Given the description of an element on the screen output the (x, y) to click on. 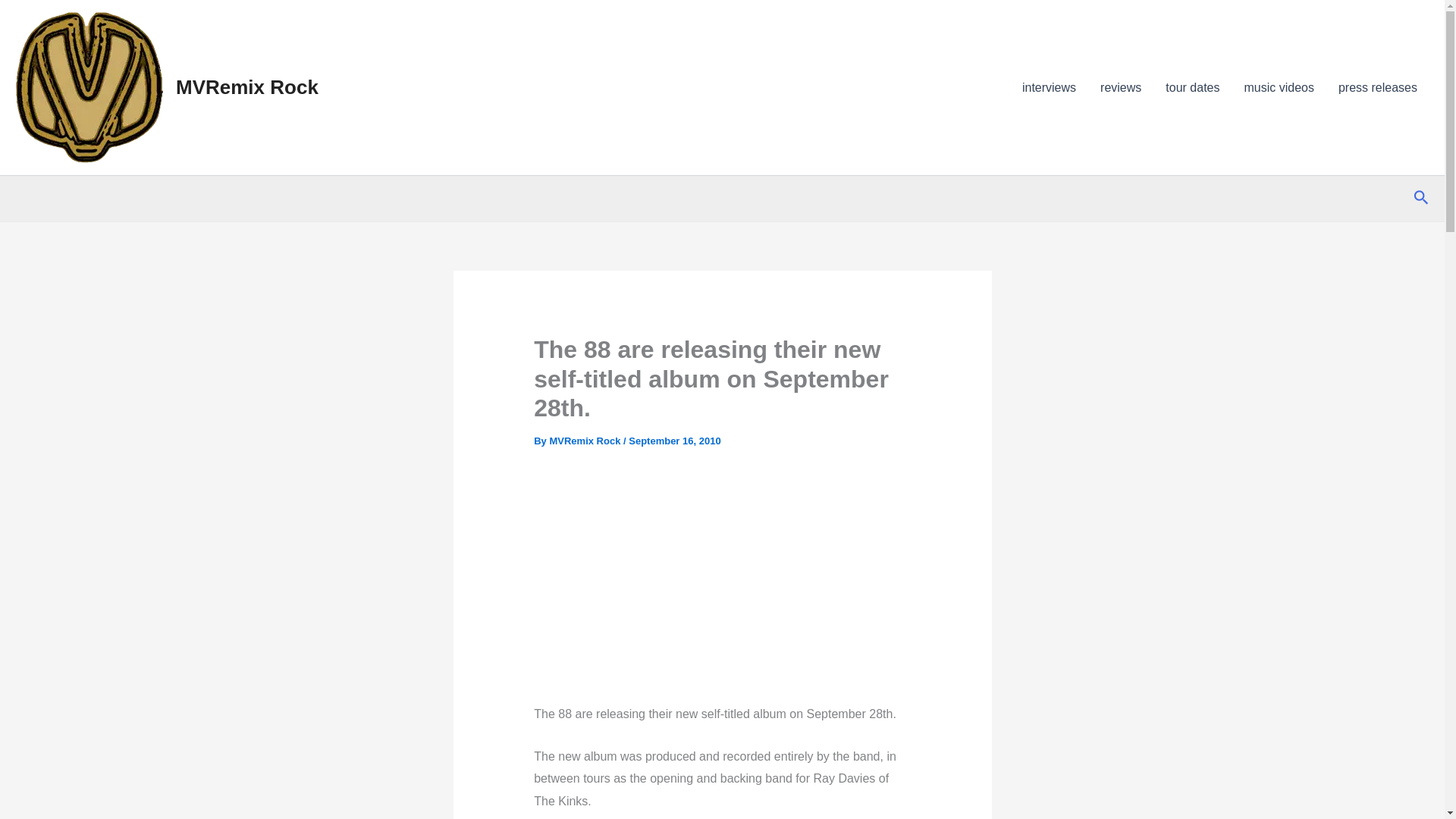
interviews (1048, 87)
music videos (1277, 87)
MVRemix Rock (585, 440)
reviews (1120, 87)
tour dates (1192, 87)
press releases (1377, 87)
Advertisement (772, 578)
MVRemix Rock (247, 87)
View all posts by MVRemix Rock (585, 440)
